Given the description of an element on the screen output the (x, y) to click on. 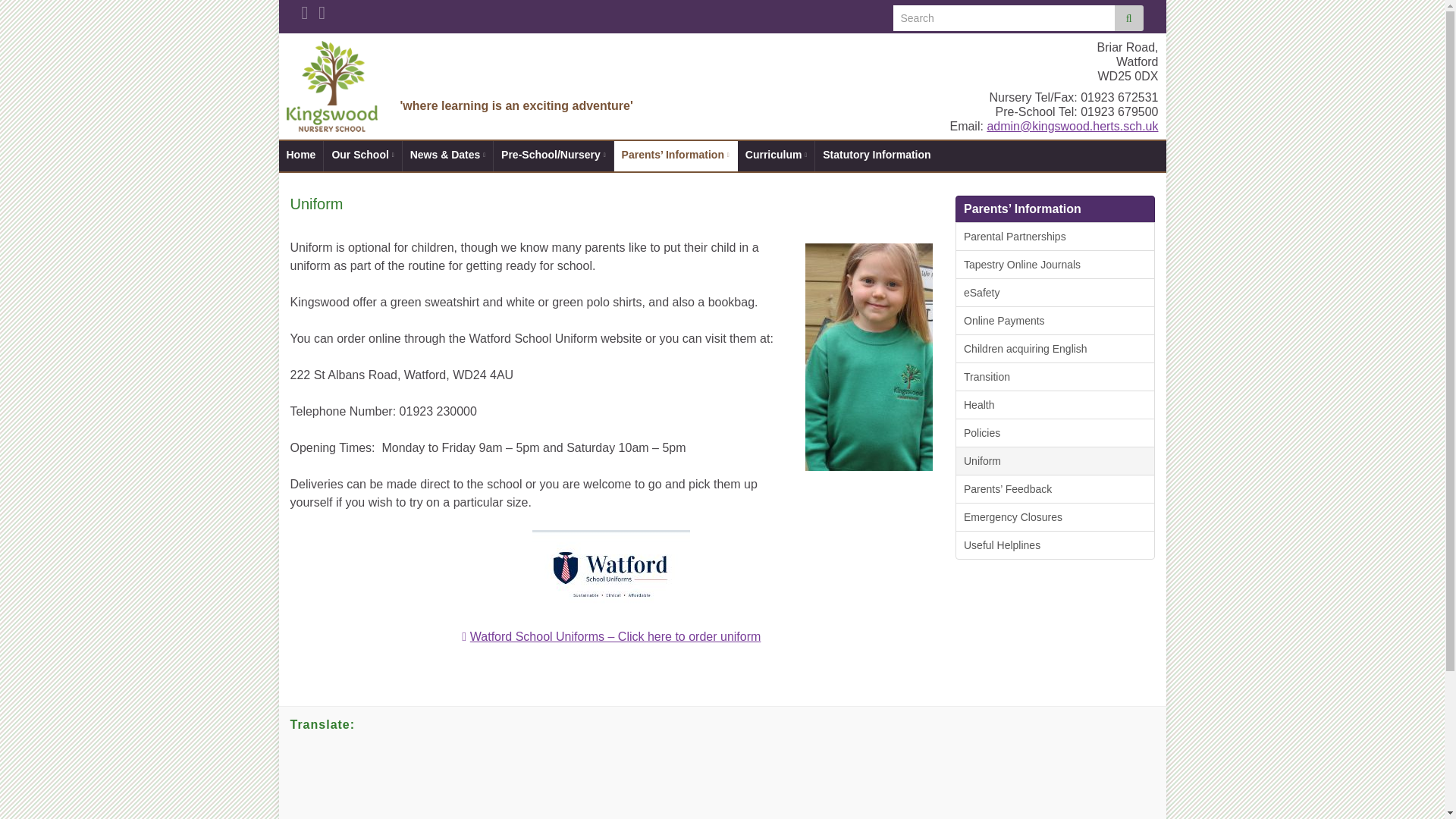
Kingswood Nursery School (569, 68)
Home (301, 155)
Our School (362, 155)
